Given the description of an element on the screen output the (x, y) to click on. 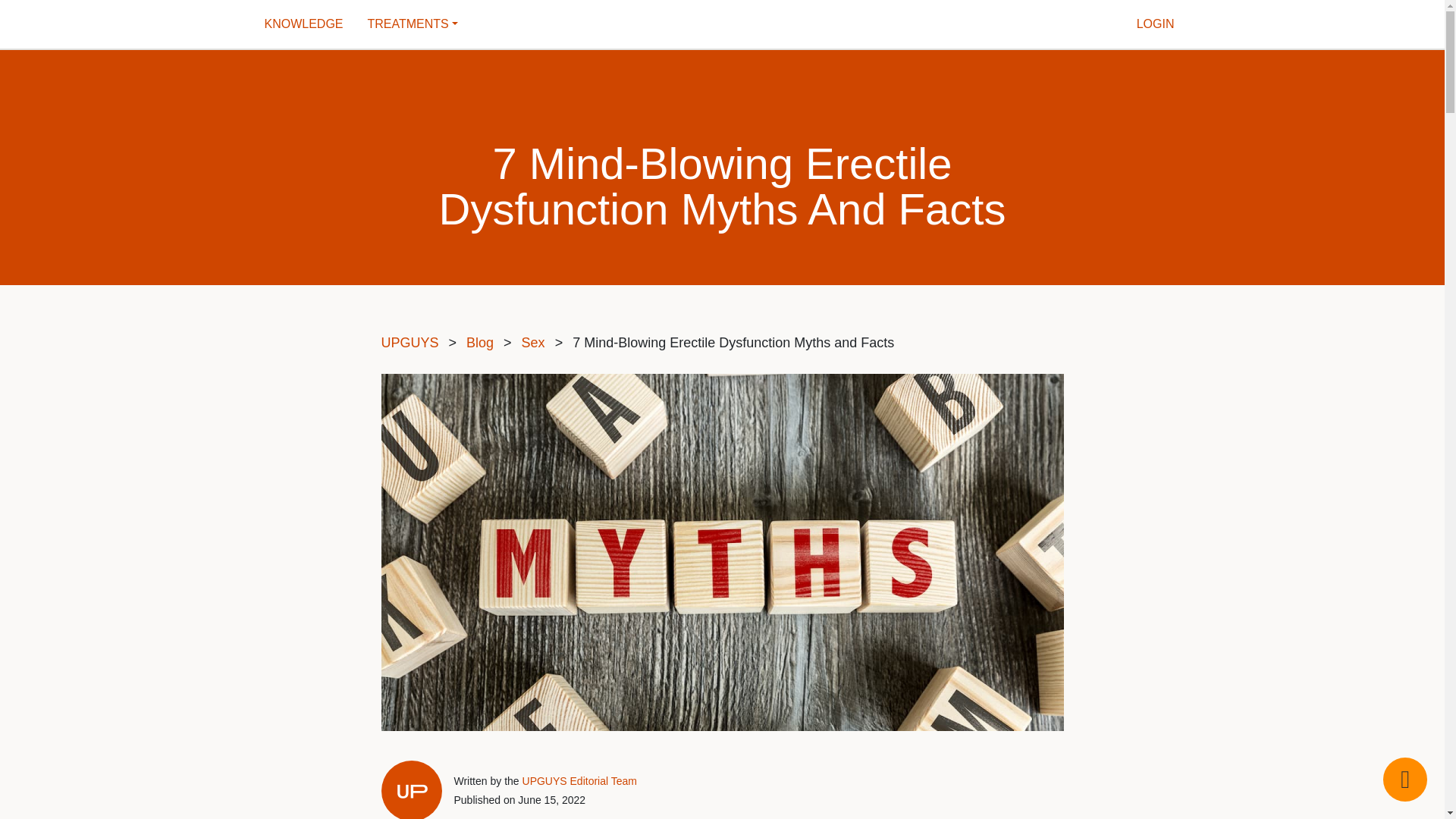
Knowledge (306, 24)
UPGUYS Editorial Team (579, 780)
LOGIN (1155, 24)
Upguys.com (721, 24)
Blog (481, 342)
UPGUYS (412, 342)
Shop (416, 24)
TREATMENTS (416, 24)
KNOWLEDGE (306, 24)
Sex (534, 342)
